Given the description of an element on the screen output the (x, y) to click on. 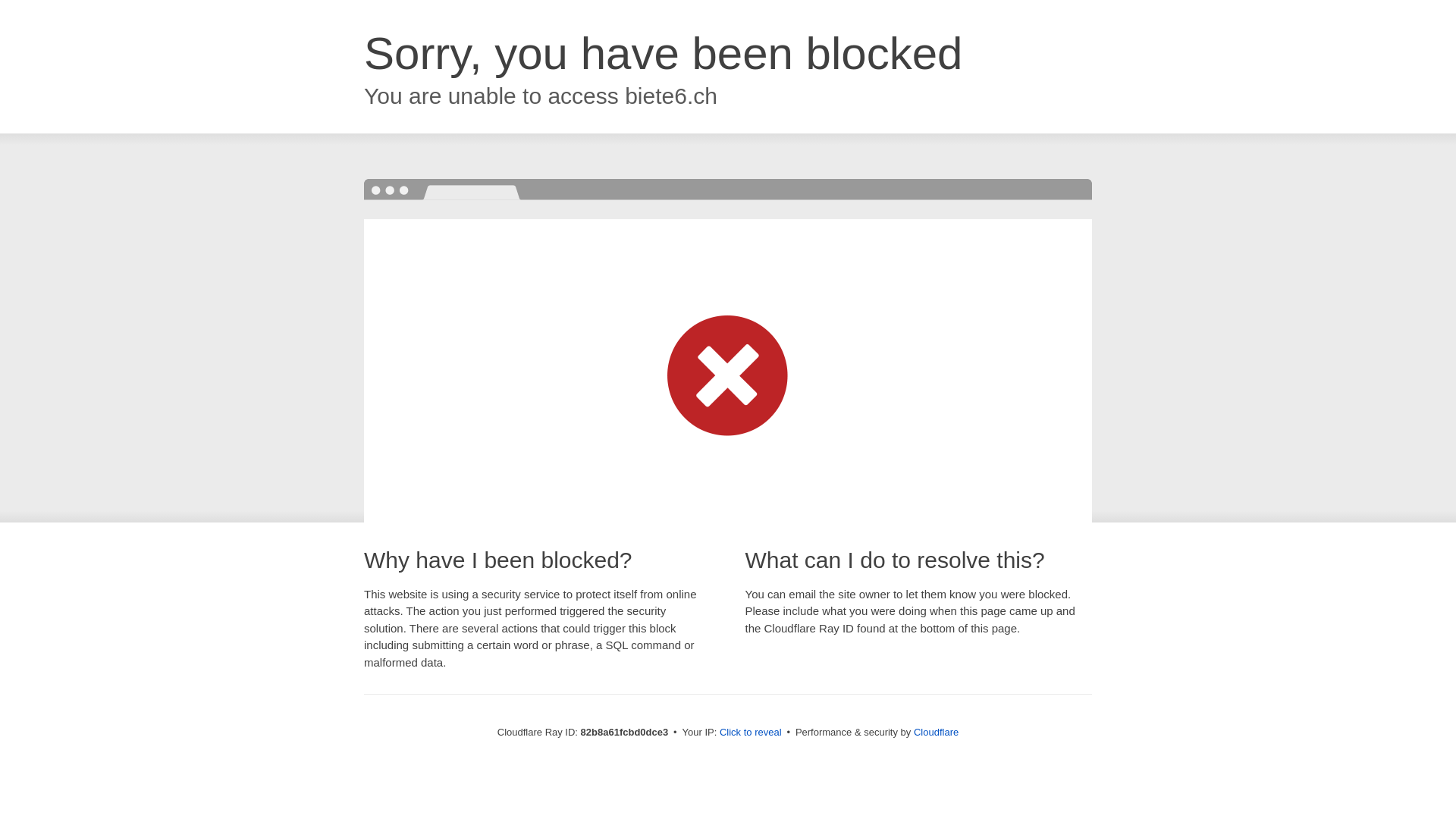
Cloudflare Element type: text (935, 731)
Click to reveal Element type: text (750, 732)
